Given the description of an element on the screen output the (x, y) to click on. 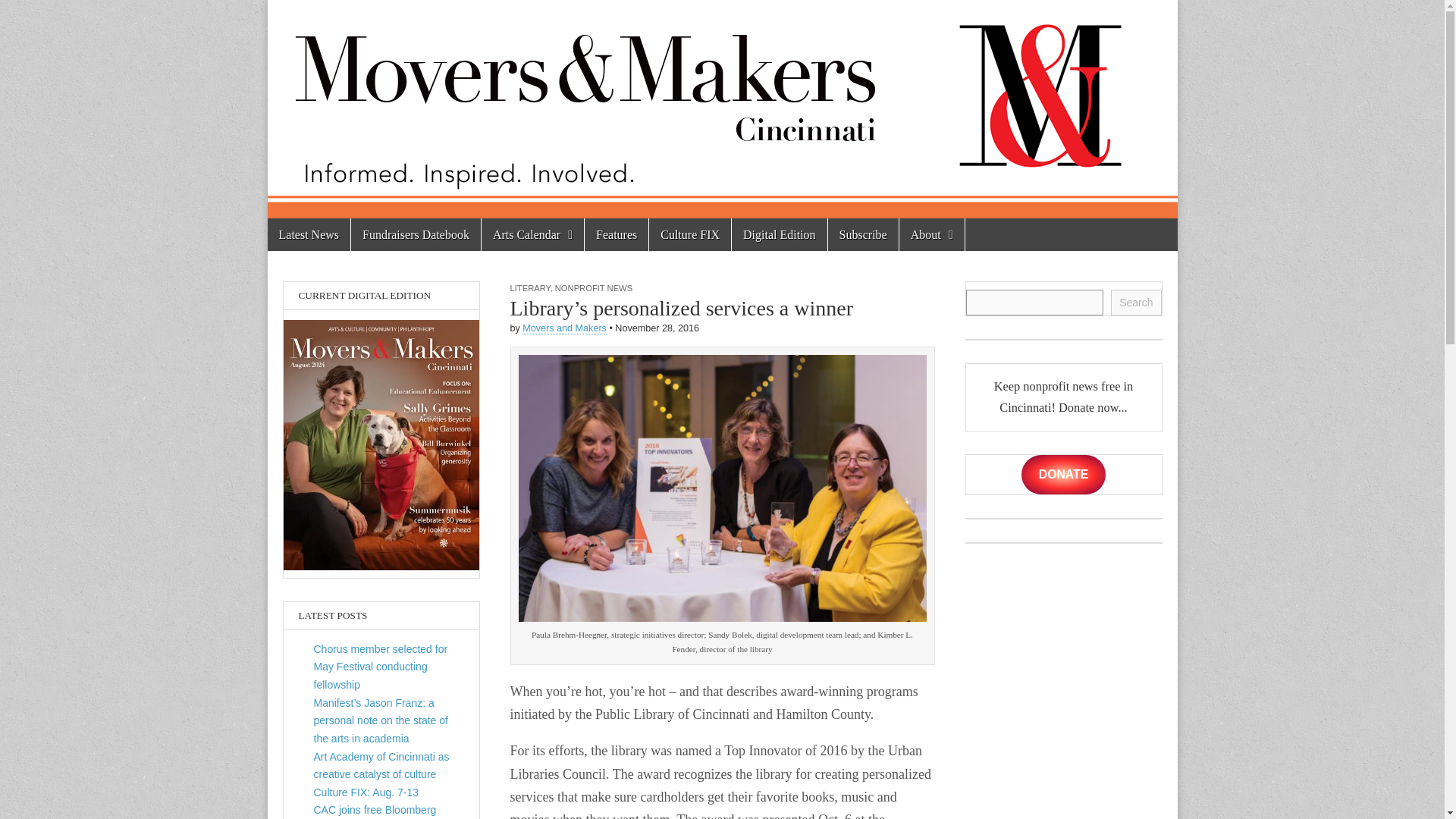
LITERARY (529, 287)
Posts by Movers and Makers (564, 328)
Digital Edition (779, 234)
Movers and Makers (564, 328)
About (931, 234)
Subscribe (863, 234)
Latest News (308, 234)
Features (616, 234)
NONPROFIT NEWS (592, 287)
Culture FIX (689, 234)
Fundraisers Datebook (415, 234)
Arts Calendar (532, 234)
